Given the description of an element on the screen output the (x, y) to click on. 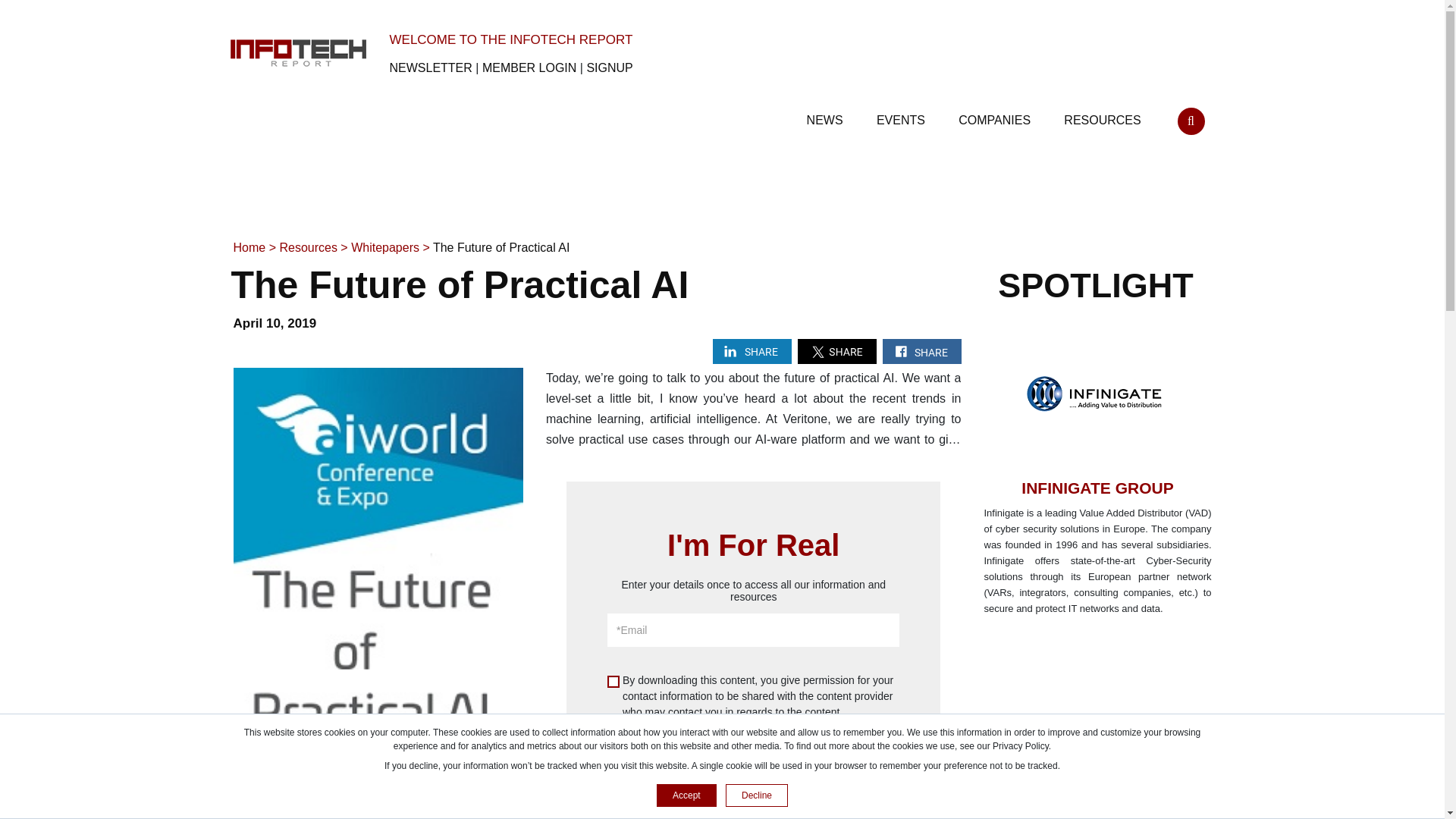
NEWSLETTER (430, 67)
SIGNUP (608, 67)
MEMBER LOGIN (528, 67)
NEWS (825, 113)
on (613, 681)
Advertisement (1094, 729)
RESOURCES (1104, 113)
Advertisement (721, 191)
COMPANIES (996, 113)
EVENTS (901, 113)
DOWNLOAD (753, 751)
